Given the description of an element on the screen output the (x, y) to click on. 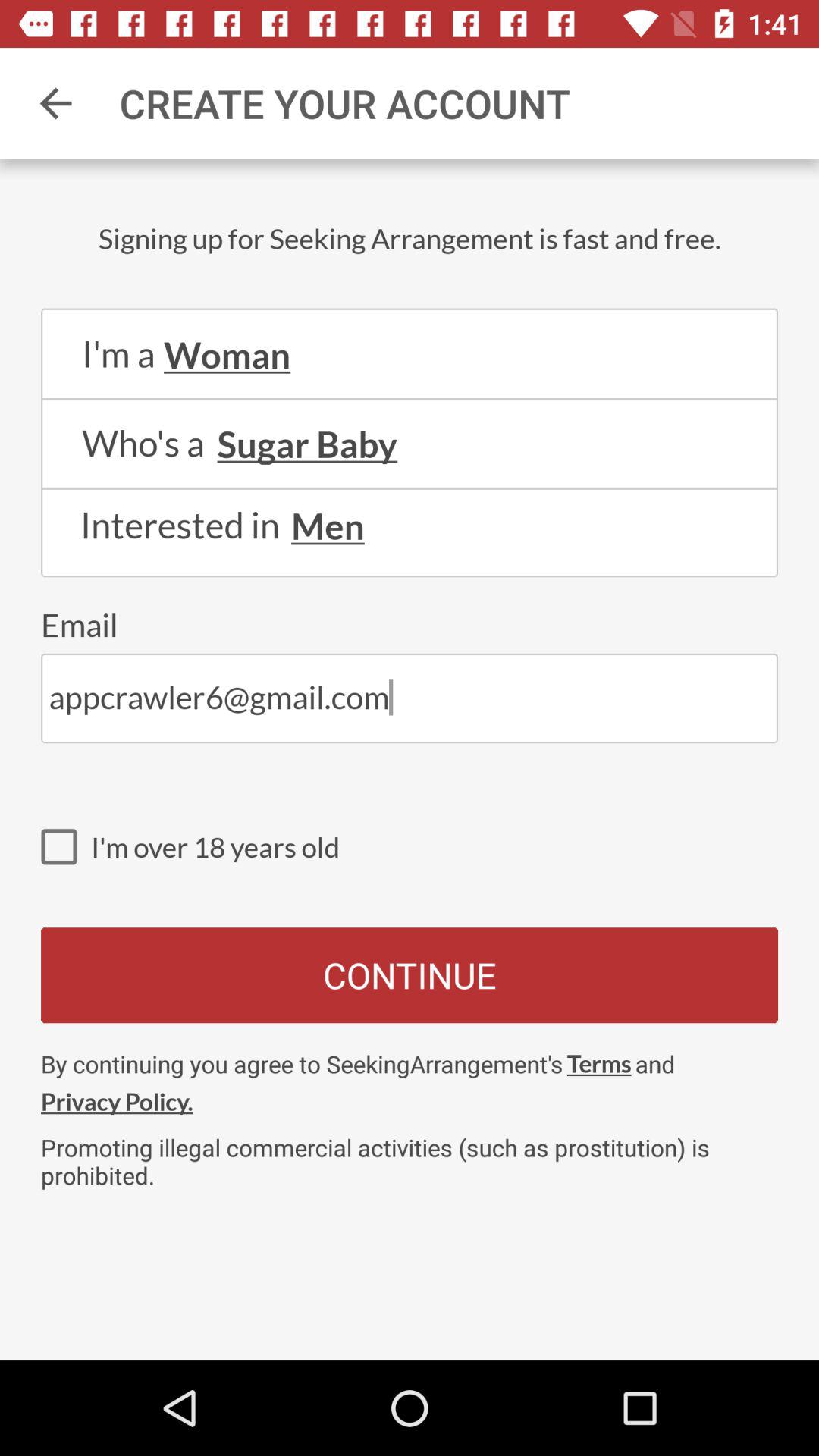
click app next to create your account icon (55, 103)
